Given the description of an element on the screen output the (x, y) to click on. 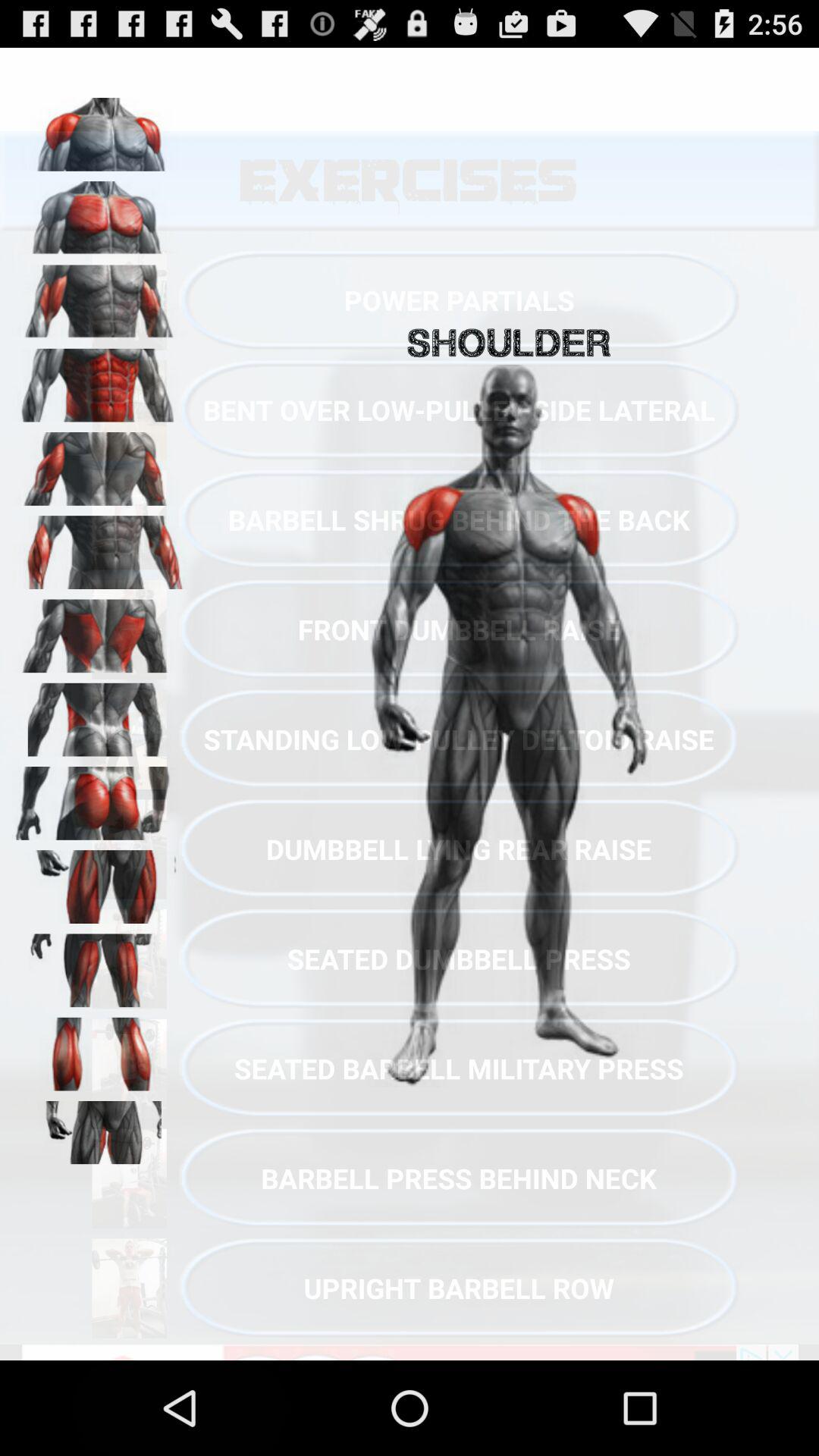
select different workout body region (99, 463)
